Given the description of an element on the screen output the (x, y) to click on. 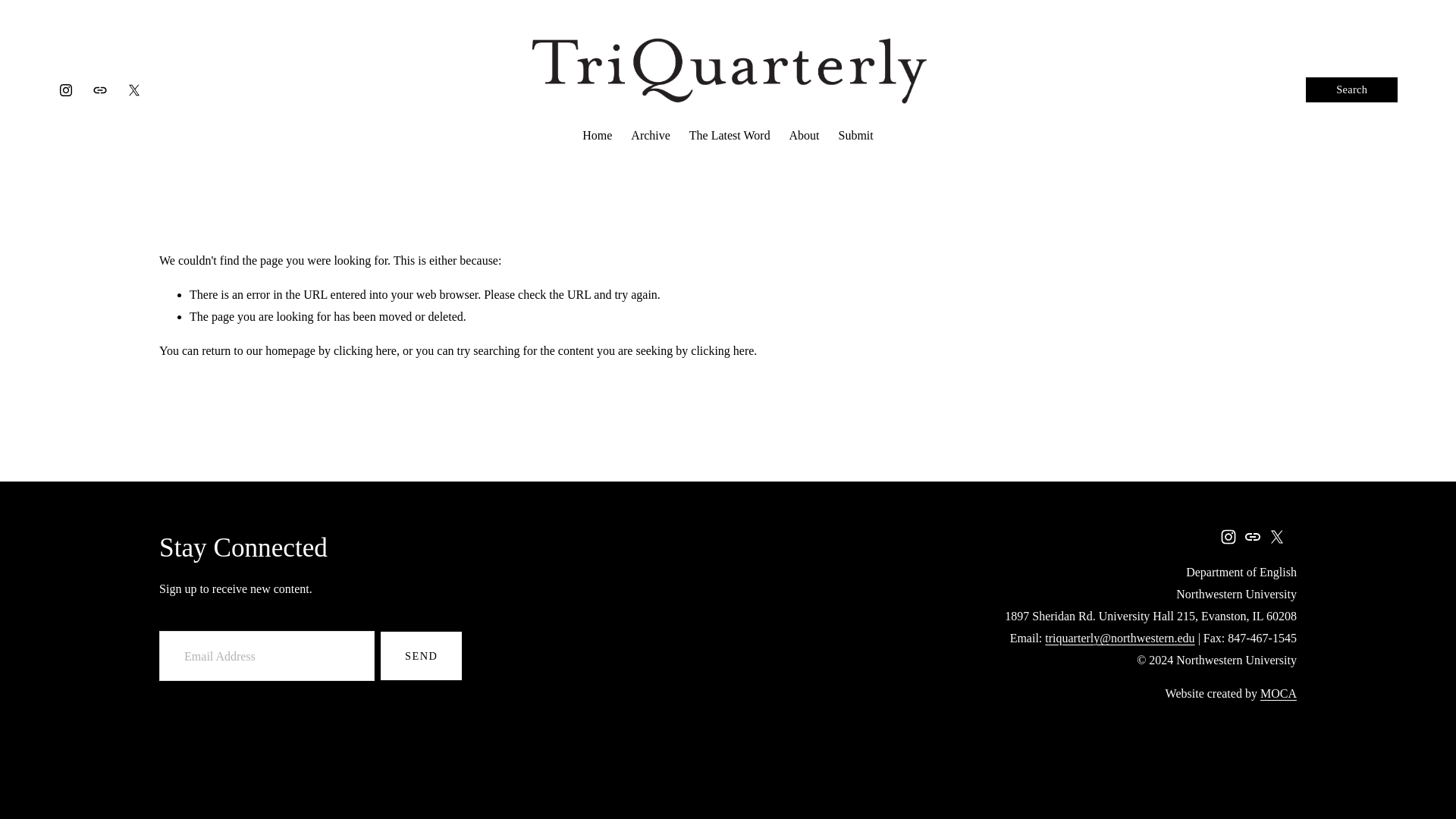
MOCA (1278, 694)
Archive (649, 135)
clicking here (364, 350)
Search (1351, 89)
The Latest Word (729, 135)
Home (596, 135)
SEND (420, 655)
clicking here (722, 350)
About (804, 135)
Submit (855, 135)
